Given the description of an element on the screen output the (x, y) to click on. 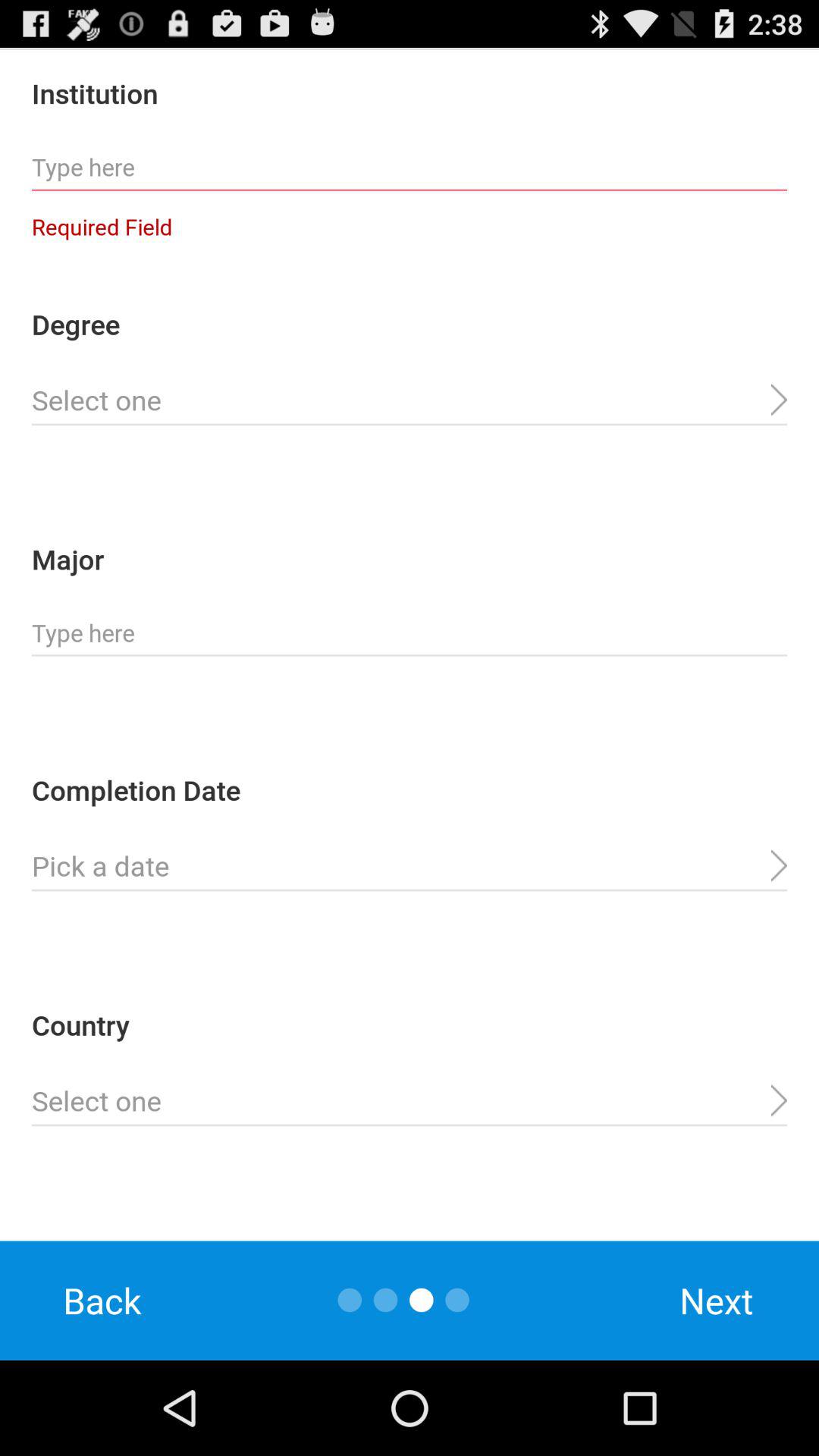
select country drop down (409, 1101)
